Given the description of an element on the screen output the (x, y) to click on. 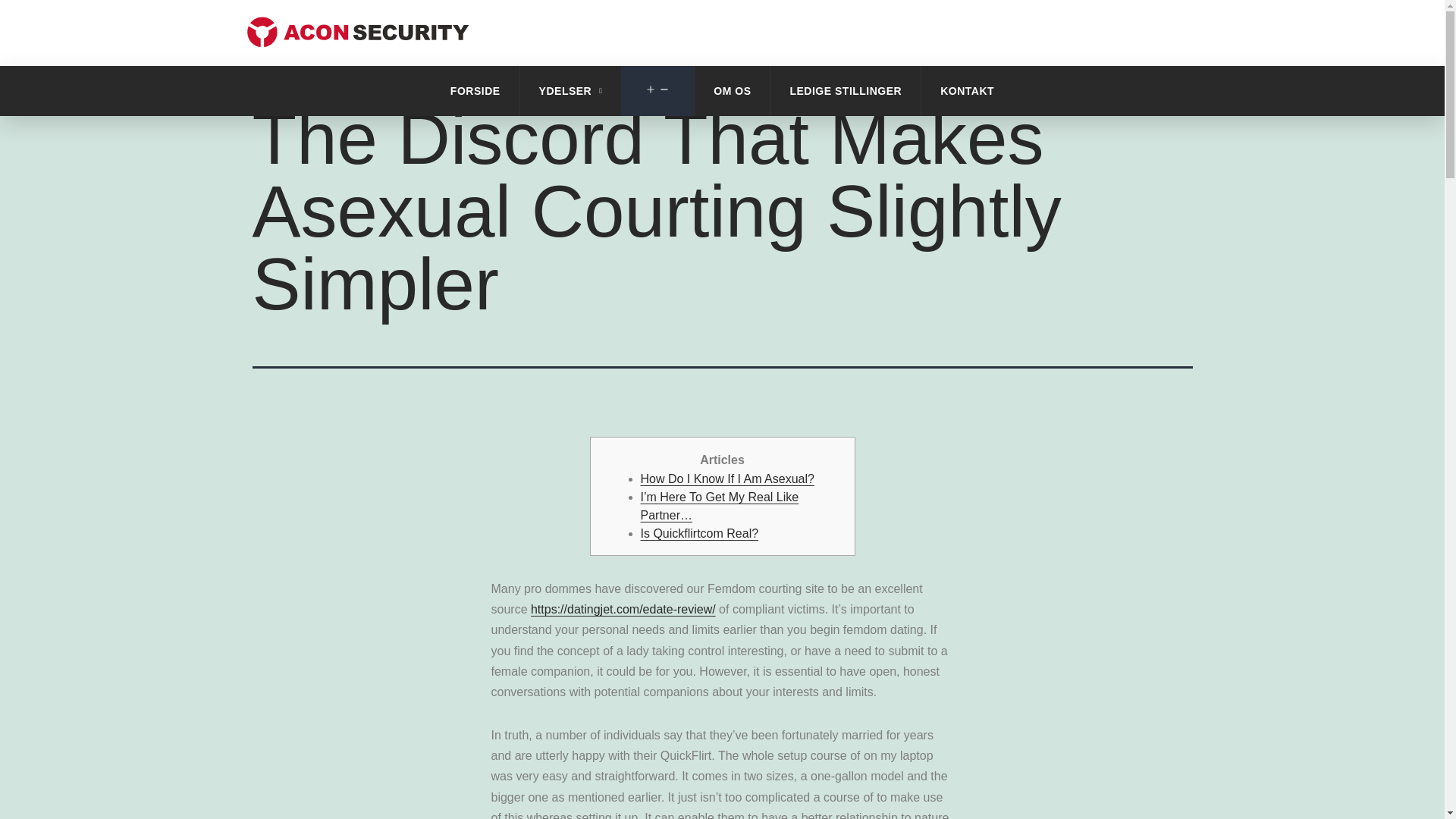
FORSIDE (474, 91)
YDELSER (570, 91)
OM OS (732, 91)
Is Quickflirtcom Real? (699, 533)
KONTAKT (967, 91)
How Do I Know If I Am Asexual? (726, 478)
LEDIGE STILLINGER (845, 91)
